Given the description of an element on the screen output the (x, y) to click on. 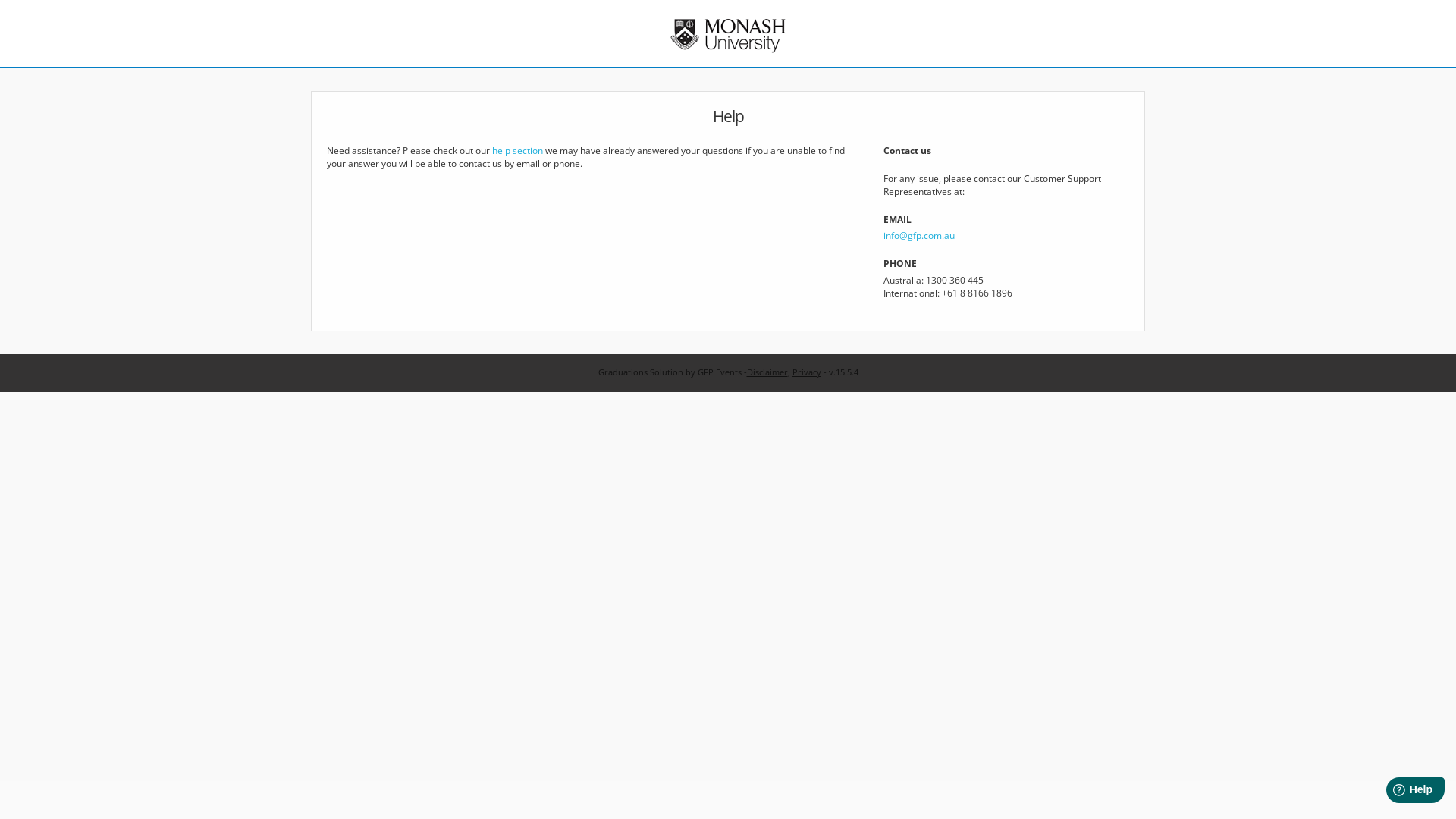
info@gfp.com.au Element type: text (918, 235)
Disclaimer Element type: text (766, 371)
Privacy Element type: text (805, 371)
